Given the description of an element on the screen output the (x, y) to click on. 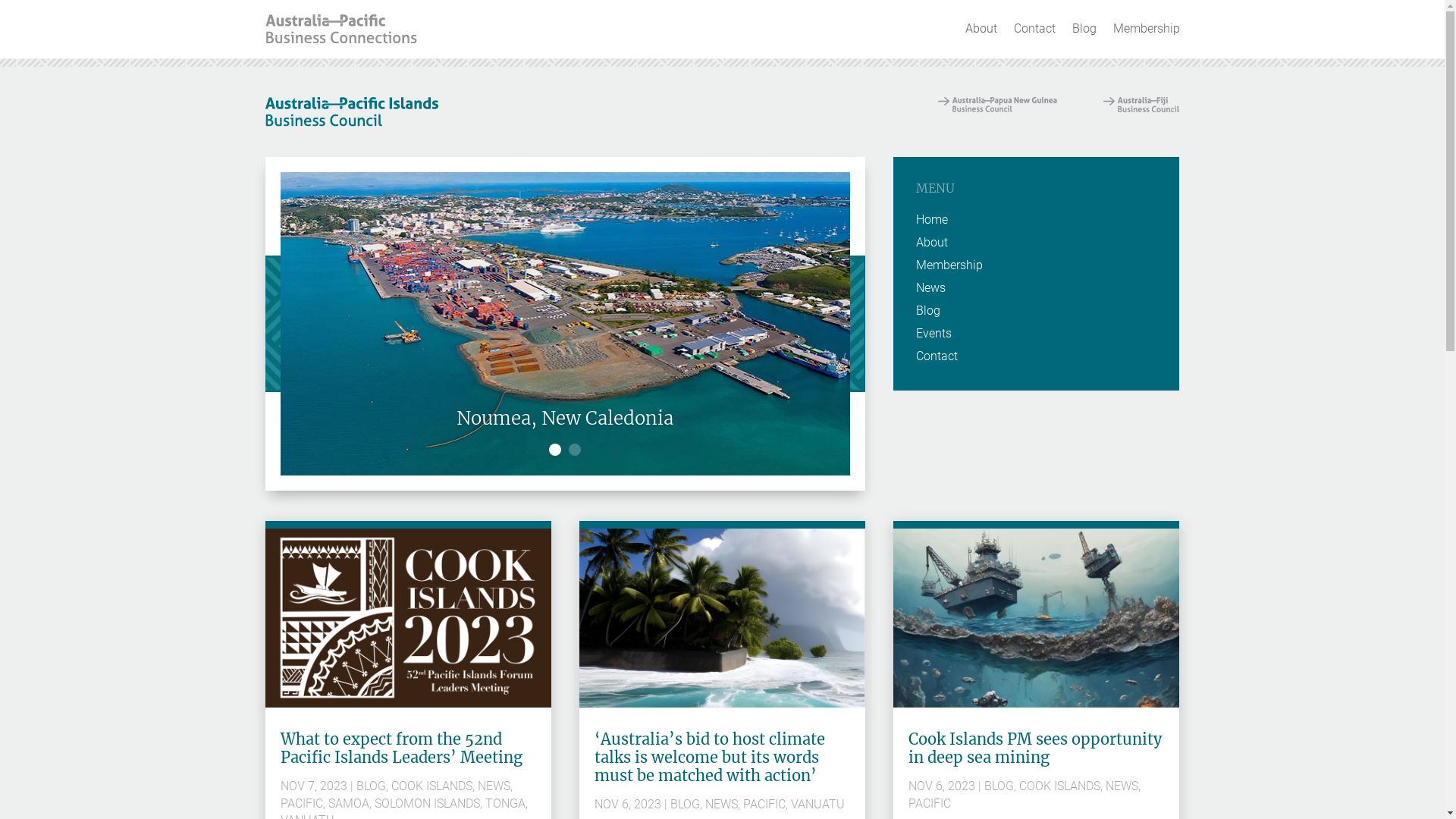
Contact Element type: text (1036, 359)
VANUATU Element type: text (817, 804)
BLOG Element type: text (370, 785)
NEWS Element type: text (721, 804)
Blog Element type: text (1084, 28)
TONGA Element type: text (505, 803)
Membership Element type: text (1036, 268)
PACIFIC Element type: text (301, 803)
Contact Element type: text (1033, 28)
SAMOA Element type: text (347, 803)
Home Element type: text (1036, 222)
BLOG Element type: text (998, 785)
Noumea, New Caledonia Element type: text (564, 417)
Events Element type: text (1036, 336)
PACIFIC Element type: text (929, 803)
NEWS Element type: text (493, 785)
PACIFIC Element type: text (764, 804)
COOK ISLANDS Element type: text (1059, 785)
logo-pacific-island Element type: hover (351, 111)
COOK ISLANDS Element type: text (431, 785)
Blog Element type: text (1036, 313)
1 Element type: text (555, 449)
Cook Islands PM sees opportunity in deep sea mining Element type: text (1034, 747)
2 Element type: text (574, 449)
BLOG Element type: text (684, 804)
Membership Element type: text (1146, 28)
News Element type: text (1036, 290)
About Element type: text (1036, 245)
About Element type: text (980, 28)
SOLOMON ISLANDS Element type: text (427, 803)
NEWS Element type: text (1121, 785)
